Given the description of an element on the screen output the (x, y) to click on. 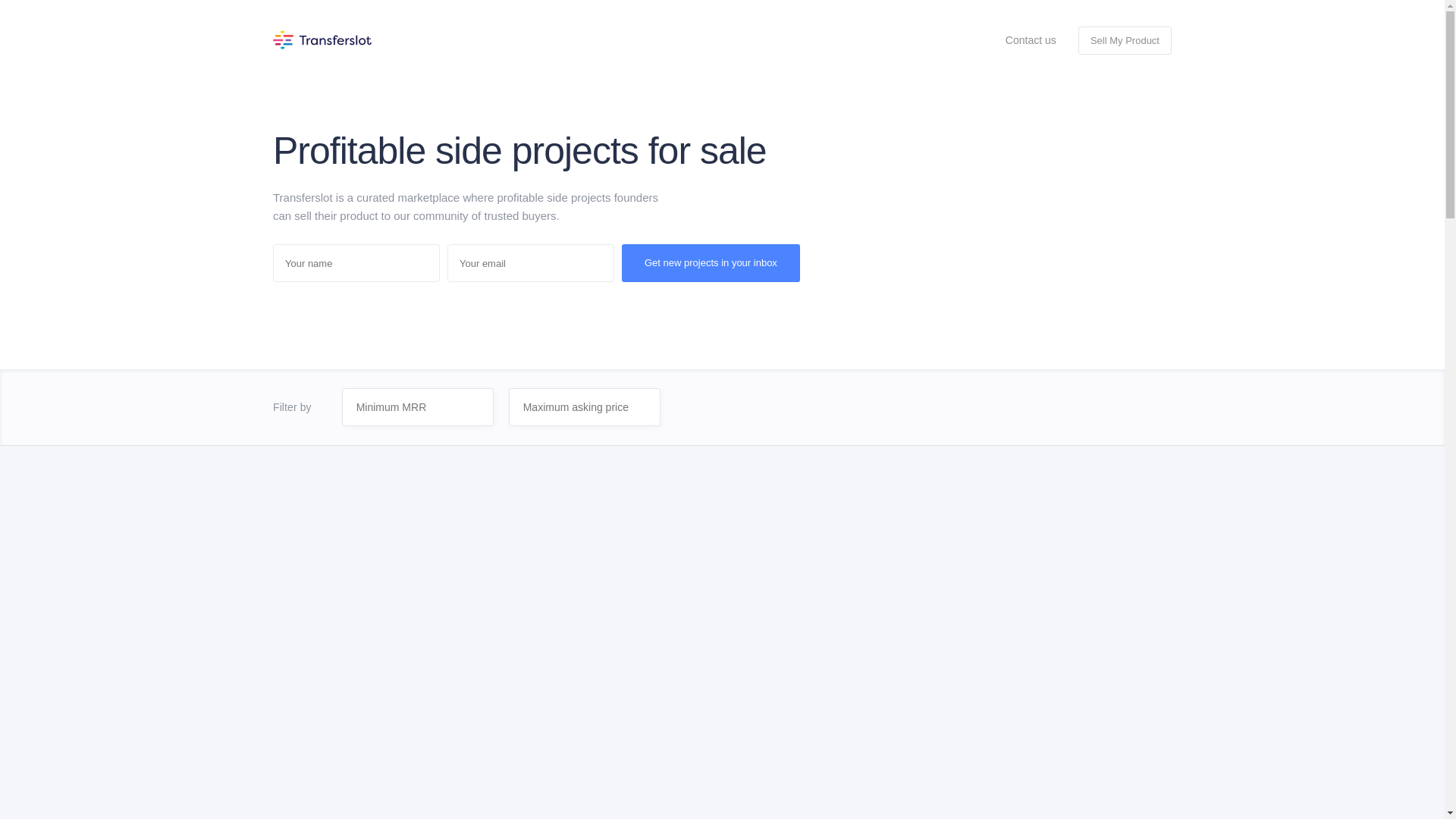
Sell My Product (1125, 40)
Contact us (1030, 39)
Get new projects in your inbox (710, 262)
Get in touch with the Transferslot team (1030, 39)
Get new projects in your inbox (710, 262)
Submit and put your product up for sale (1125, 40)
